Given the description of an element on the screen output the (x, y) to click on. 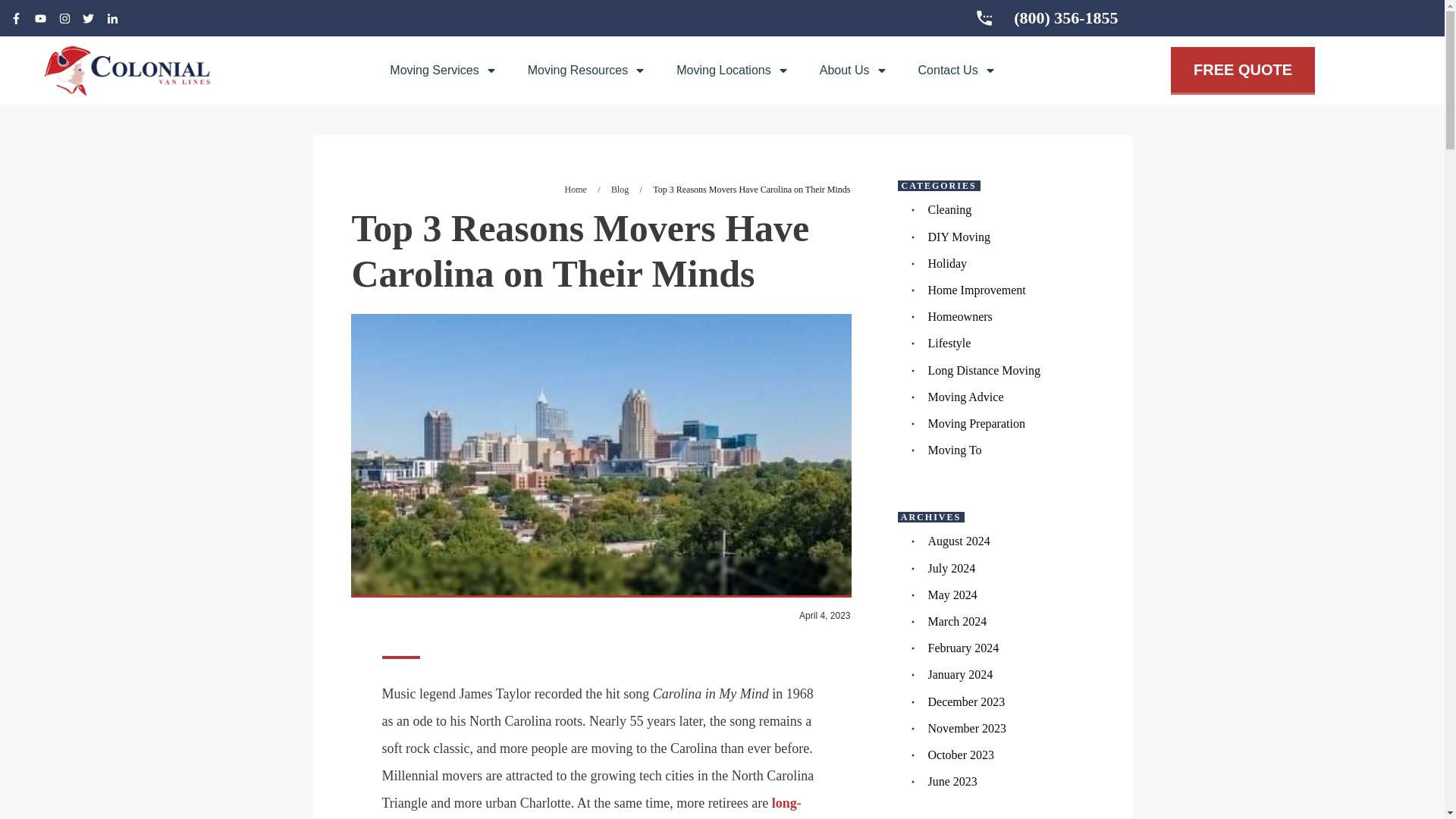
About Us (853, 70)
Moving Locations (733, 70)
Moving Services (443, 70)
Moving Resources (586, 70)
Contact Us (956, 70)
FREE QUOTE (1242, 70)
